Given the description of an element on the screen output the (x, y) to click on. 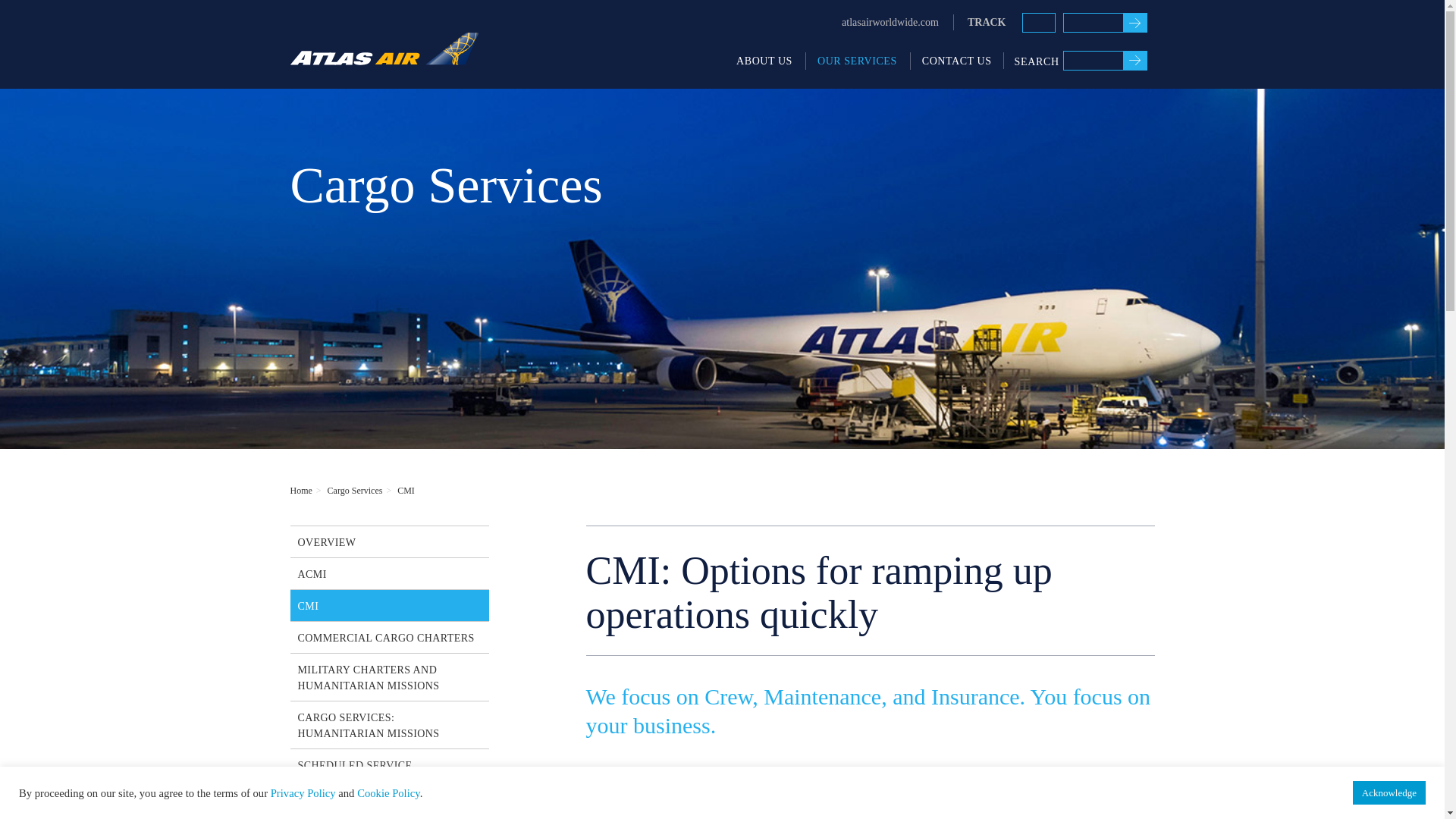
atlasairworldwide.com (889, 22)
CONTACT US (956, 60)
OUR SERVICES (856, 60)
ABOUT US (764, 60)
